Given the description of an element on the screen output the (x, y) to click on. 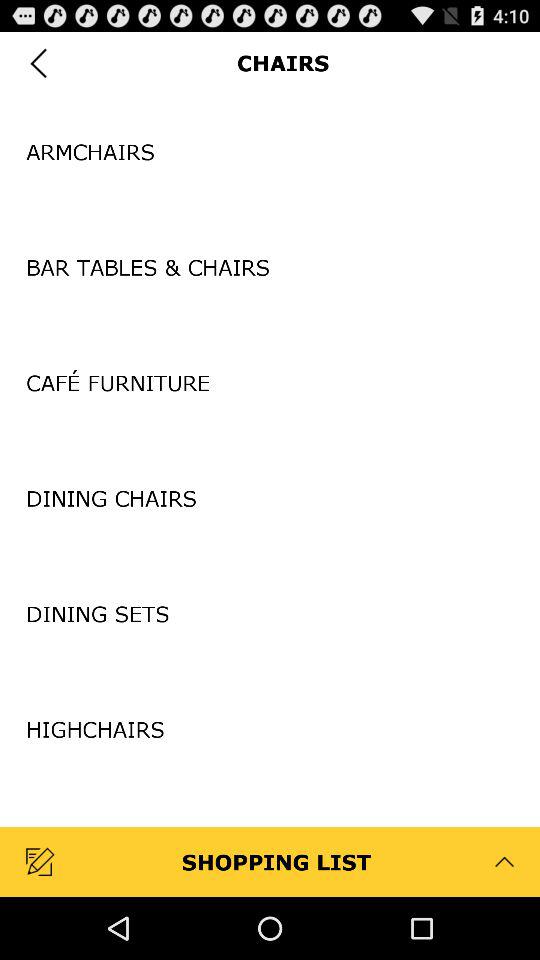
select the edit option on the bottom (42, 861)
click the arrow beside right to shopping list (503, 861)
